Given the description of an element on the screen output the (x, y) to click on. 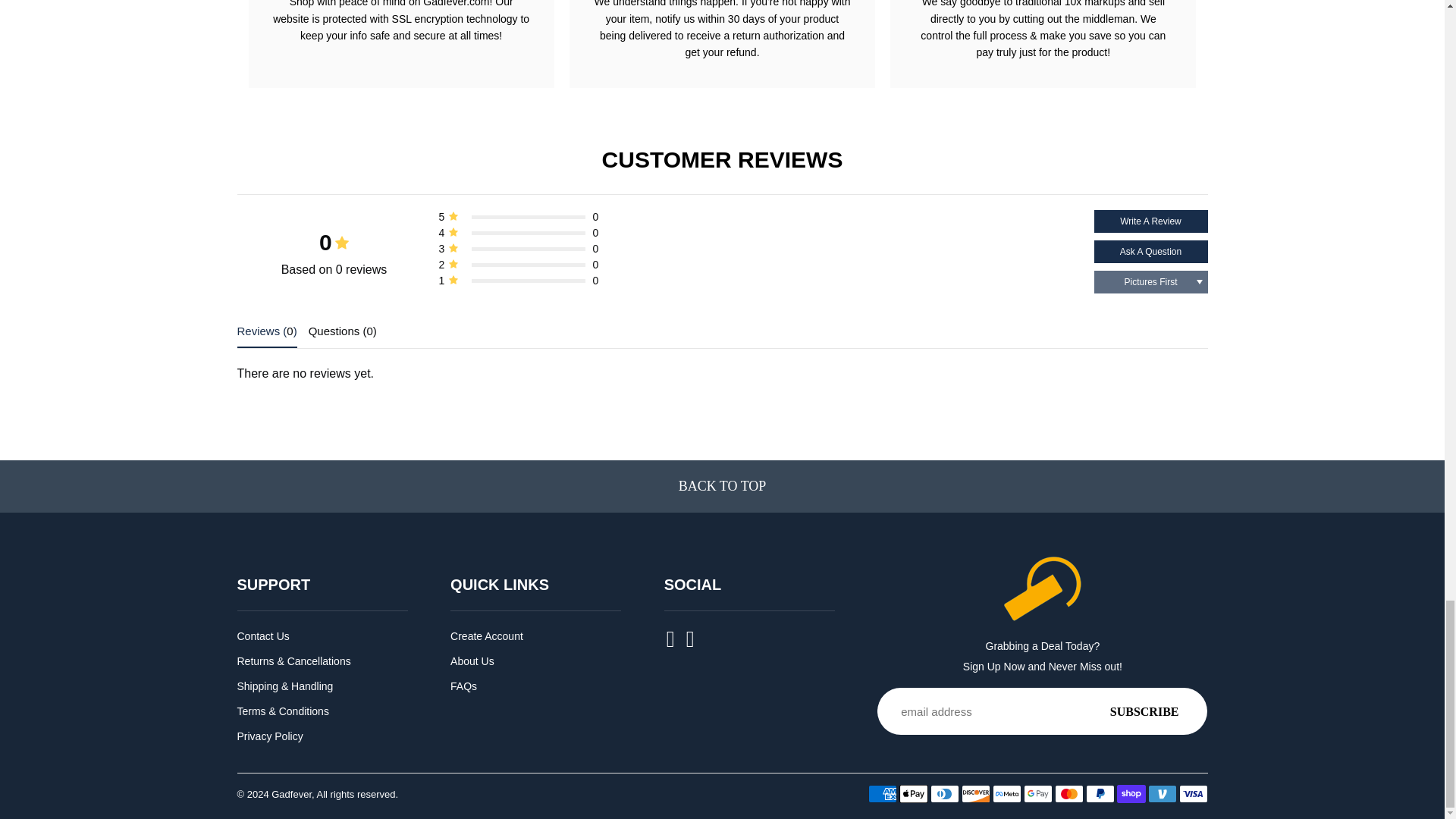
Mastercard (1068, 793)
Apple Pay (913, 793)
American Express (881, 793)
Meta Pay (1005, 793)
Discover (975, 793)
Gadfever on Facebook (672, 643)
Diners Club (944, 793)
Gadfever on Instagram (691, 643)
PayPal (1100, 793)
Google Pay (1037, 793)
